Given the description of an element on the screen output the (x, y) to click on. 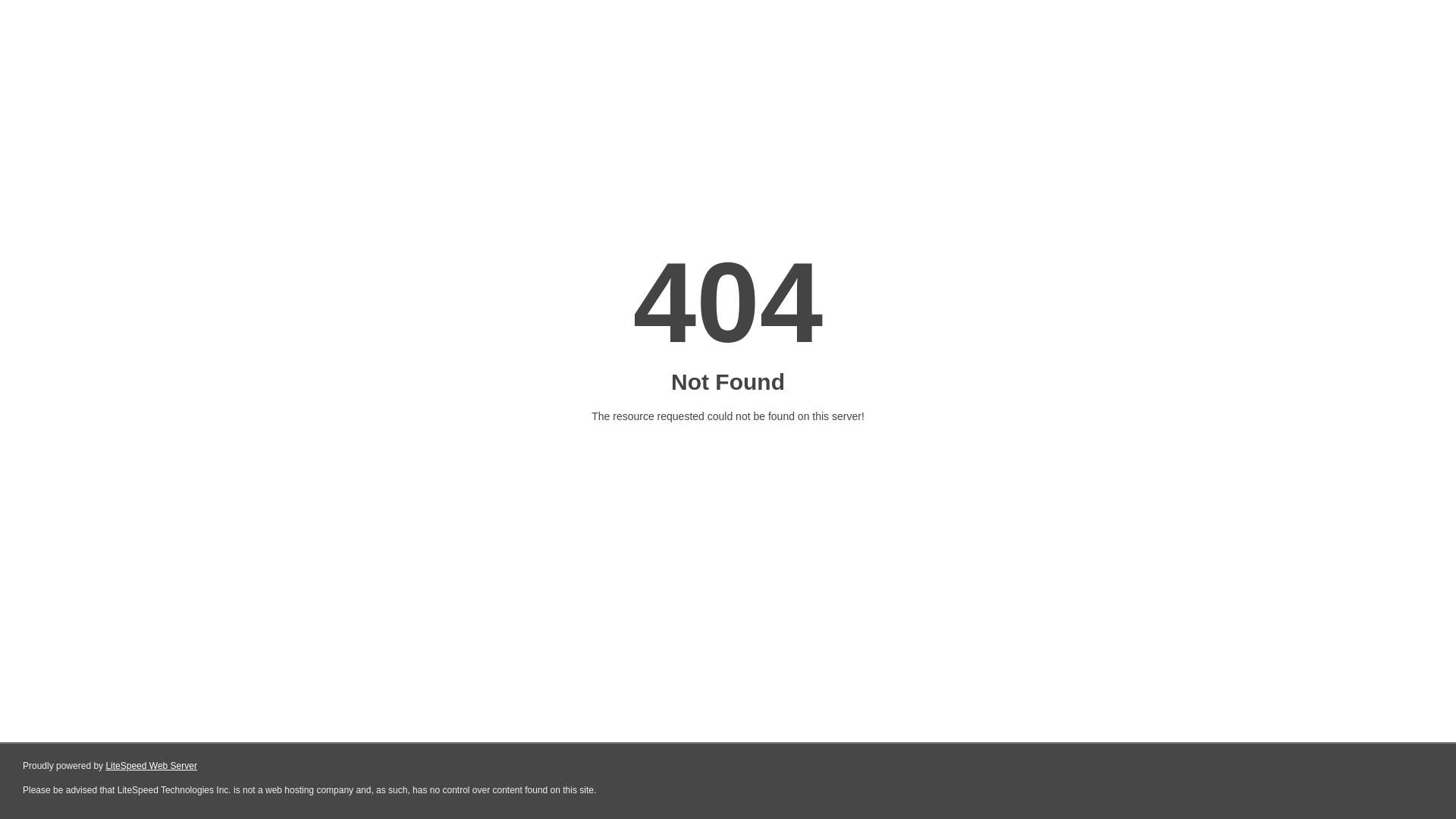
LiteSpeed Web Server Element type: text (151, 765)
